Given the description of an element on the screen output the (x, y) to click on. 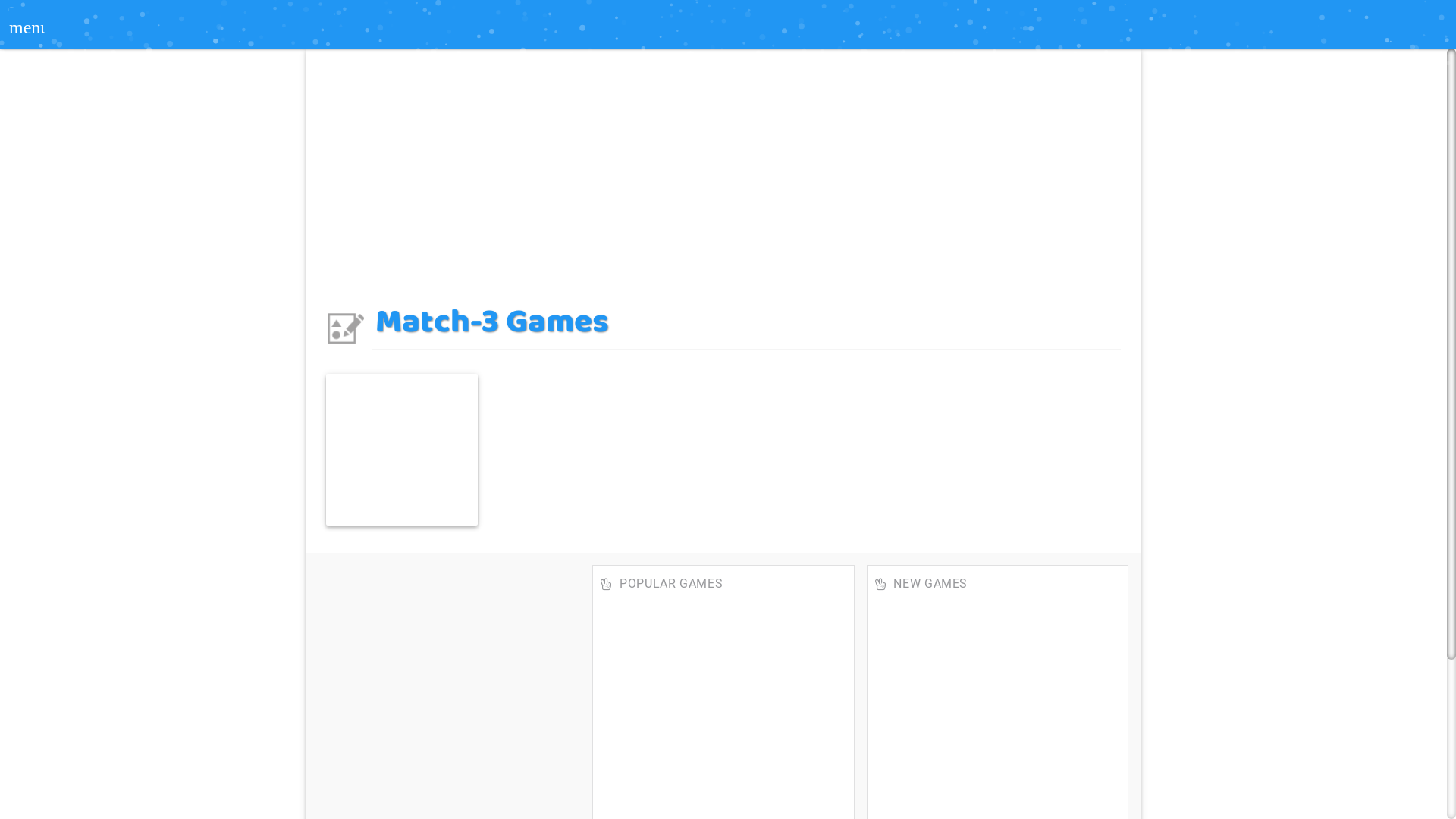
Advertisement Element type: hover (420, 468)
Advertisement Element type: hover (723, 166)
